Given the description of an element on the screen output the (x, y) to click on. 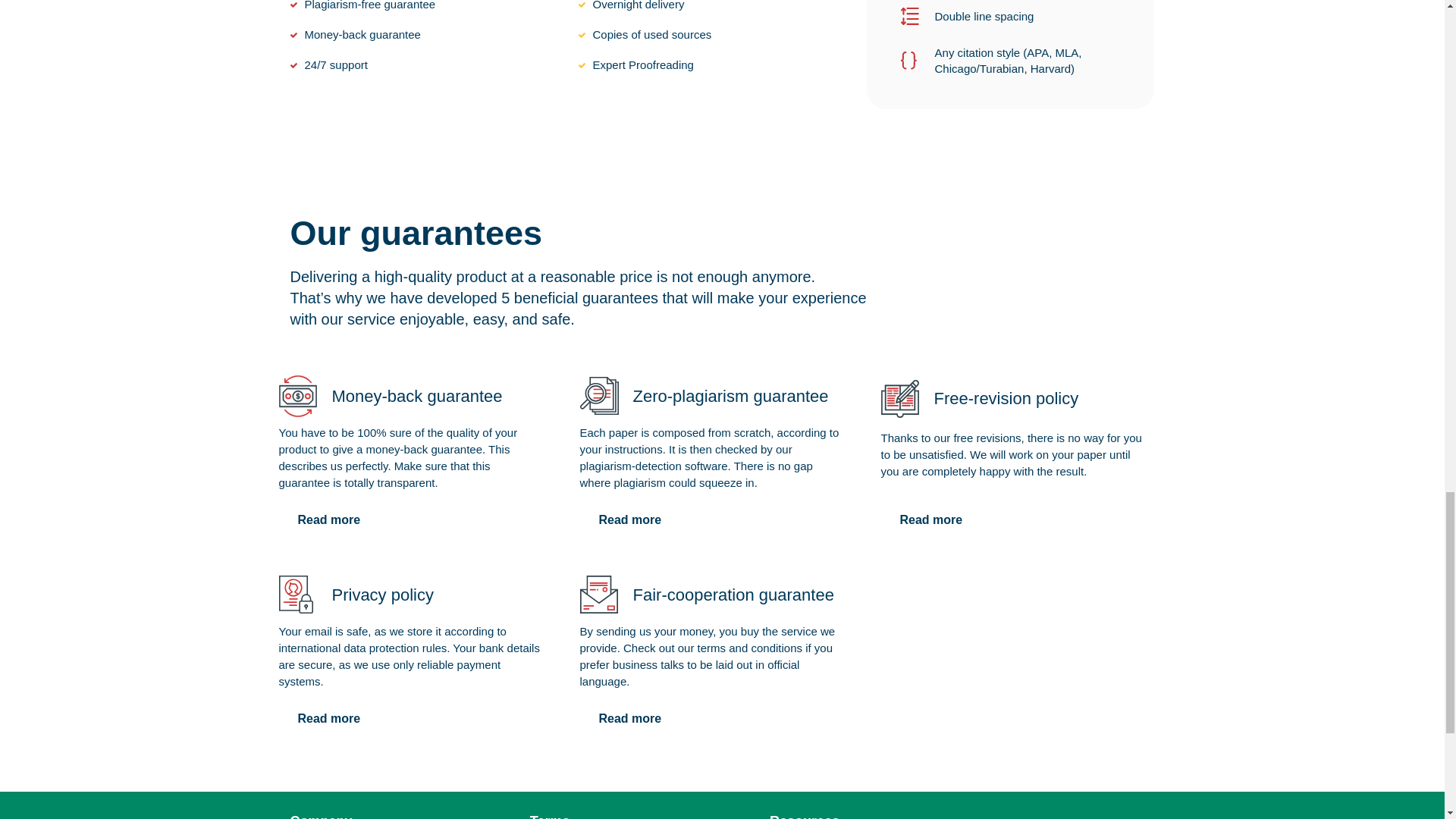
Read more (629, 718)
Read more (329, 718)
Read more (629, 520)
Read more (329, 520)
Read more (930, 520)
